Given the description of an element on the screen output the (x, y) to click on. 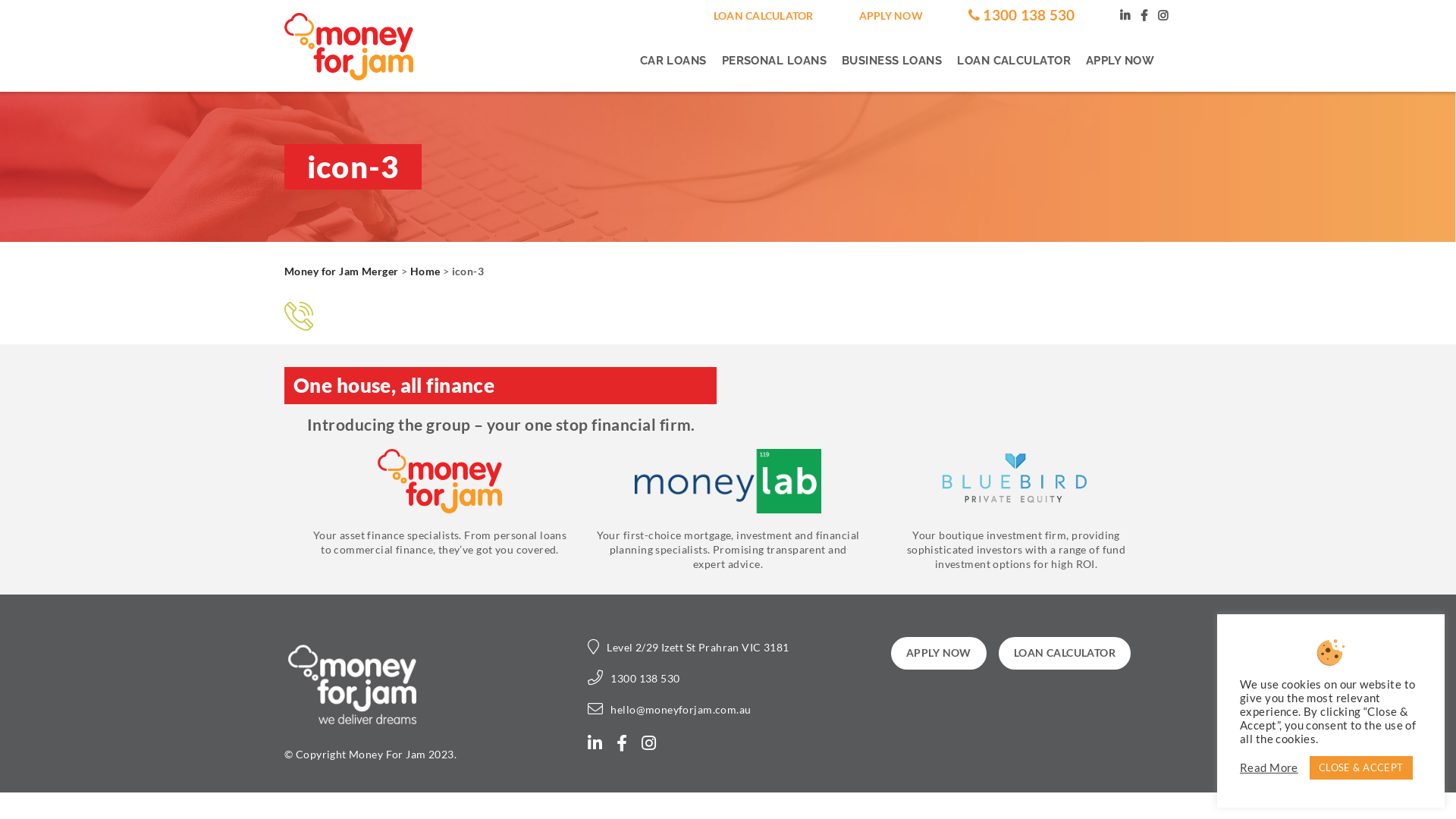
CAR LOANS Element type: text (677, 60)
PERSONAL LOANS Element type: text (774, 60)
CLOSE & ACCEPT Element type: text (1360, 767)
APPLY NOW Element type: text (938, 653)
1300 138 530 Element type: text (644, 677)
LOAN CALCULATOR Element type: text (1064, 653)
1300 138 530 Element type: text (1021, 14)
hello@moneyforjam.com.au Element type: text (680, 708)
BUSINESS LOANS Element type: text (891, 60)
Home Element type: text (425, 270)
APPLY NOW Element type: text (890, 15)
LOAN CALCULATOR Element type: text (763, 15)
Money for Jam Merger Element type: text (341, 270)
Read More Element type: text (1268, 768)
LOAN CALCULATOR Element type: text (1013, 60)
